Given the description of an element on the screen output the (x, y) to click on. 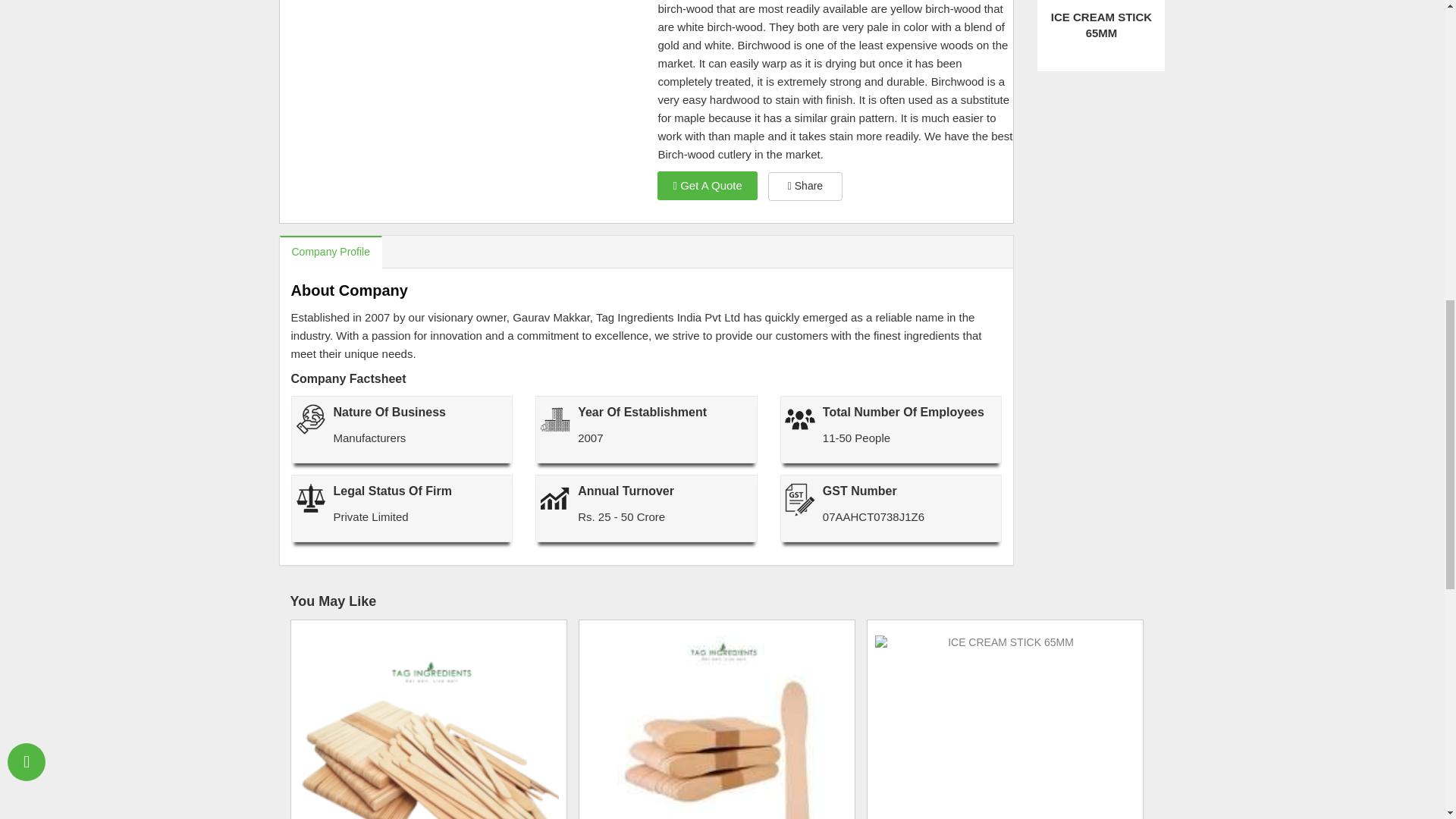
Share (805, 185)
ICE CREAM STICK 65MM (1101, 25)
Get A Quote (707, 185)
Company Profile (330, 251)
Get A Quote (707, 185)
